Given the description of an element on the screen output the (x, y) to click on. 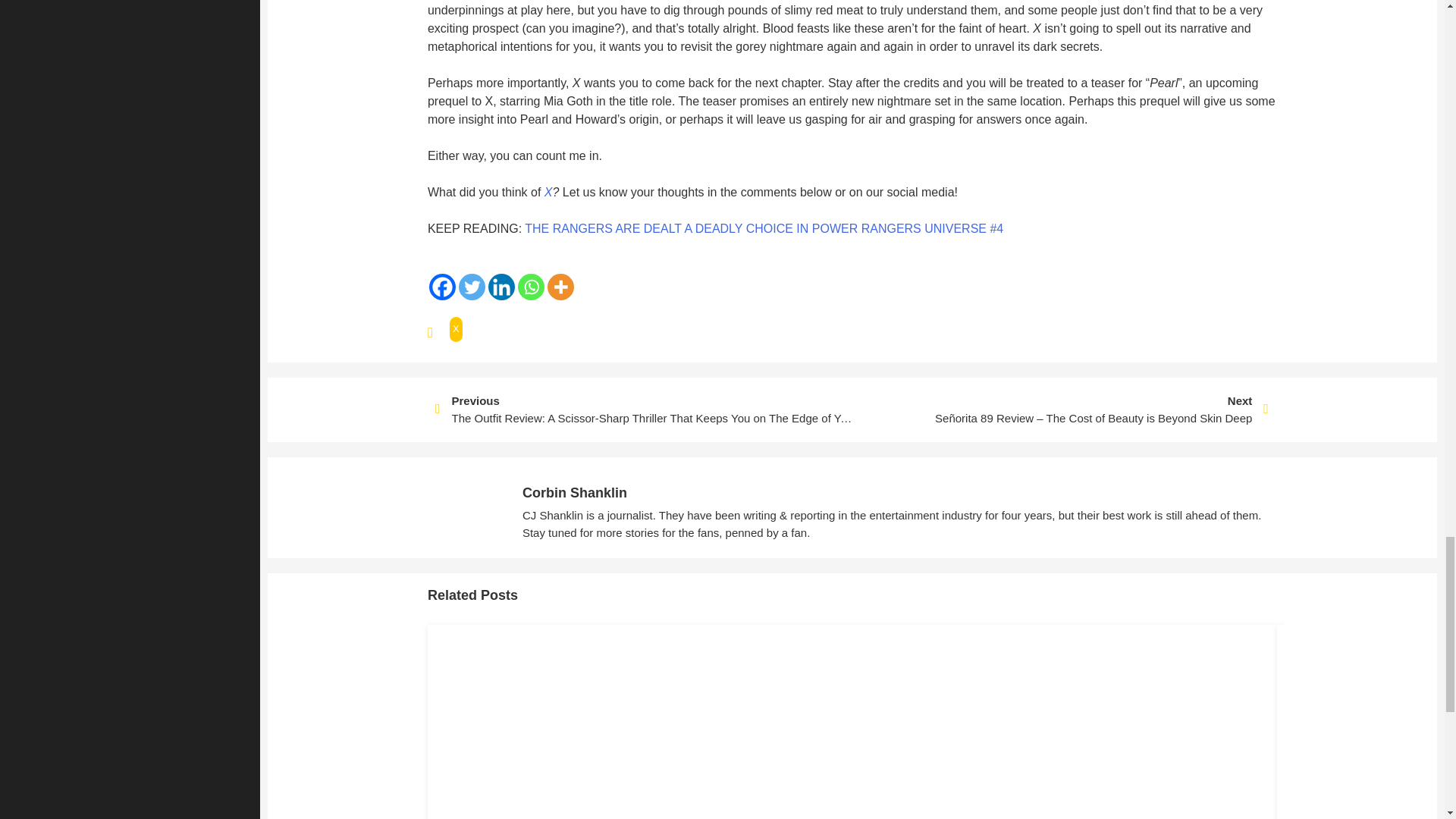
Whatsapp (531, 286)
Twitter (471, 286)
Facebook (442, 286)
More (560, 286)
Linkedin (501, 286)
